Given the description of an element on the screen output the (x, y) to click on. 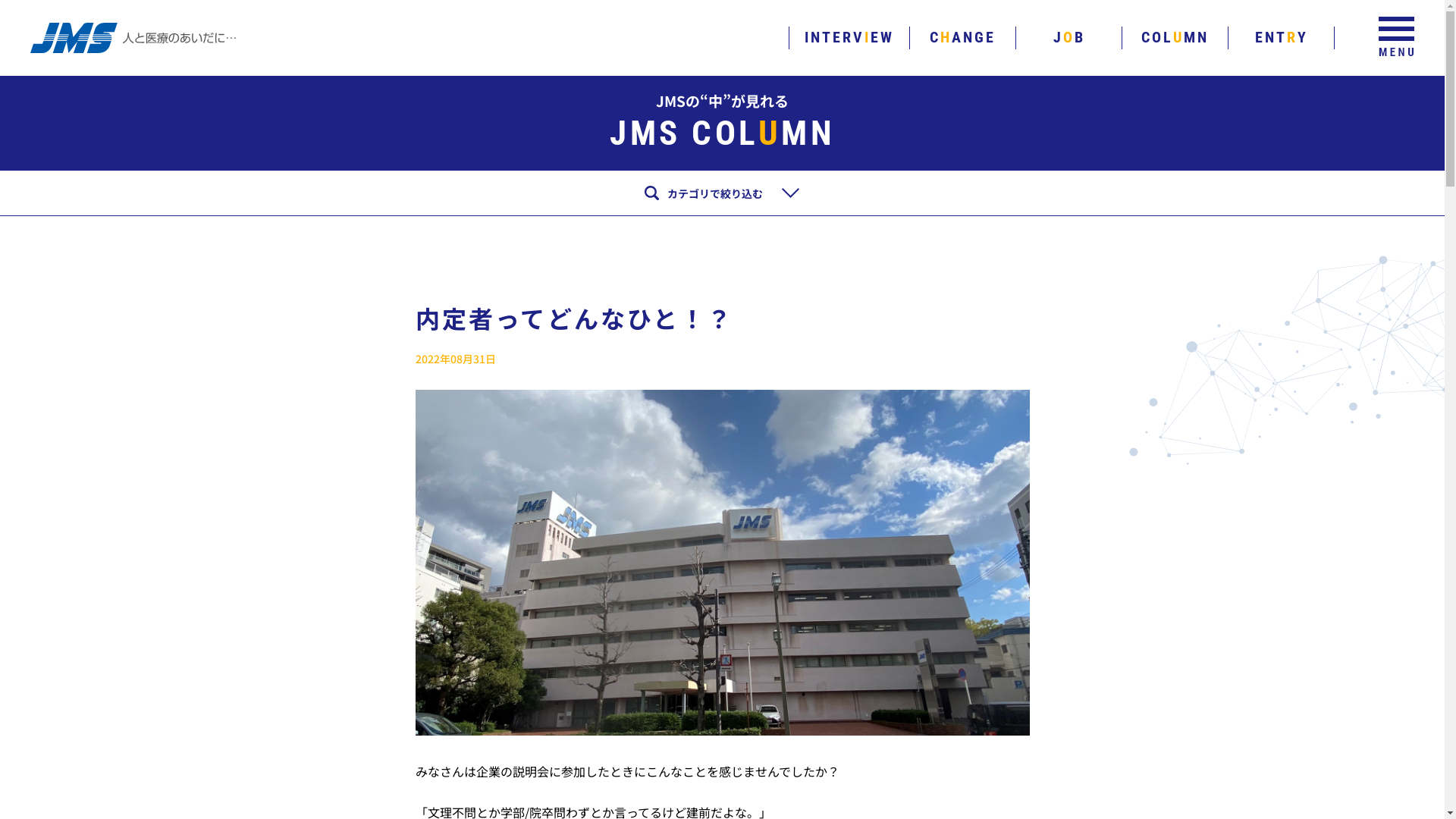
JOB Element type: text (1068, 36)
INTERVIEW Element type: text (849, 36)
COLUMN Element type: text (1174, 36)
ENTRY Element type: text (1280, 36)
CHANGE Element type: text (962, 36)
